Given the description of an element on the screen output the (x, y) to click on. 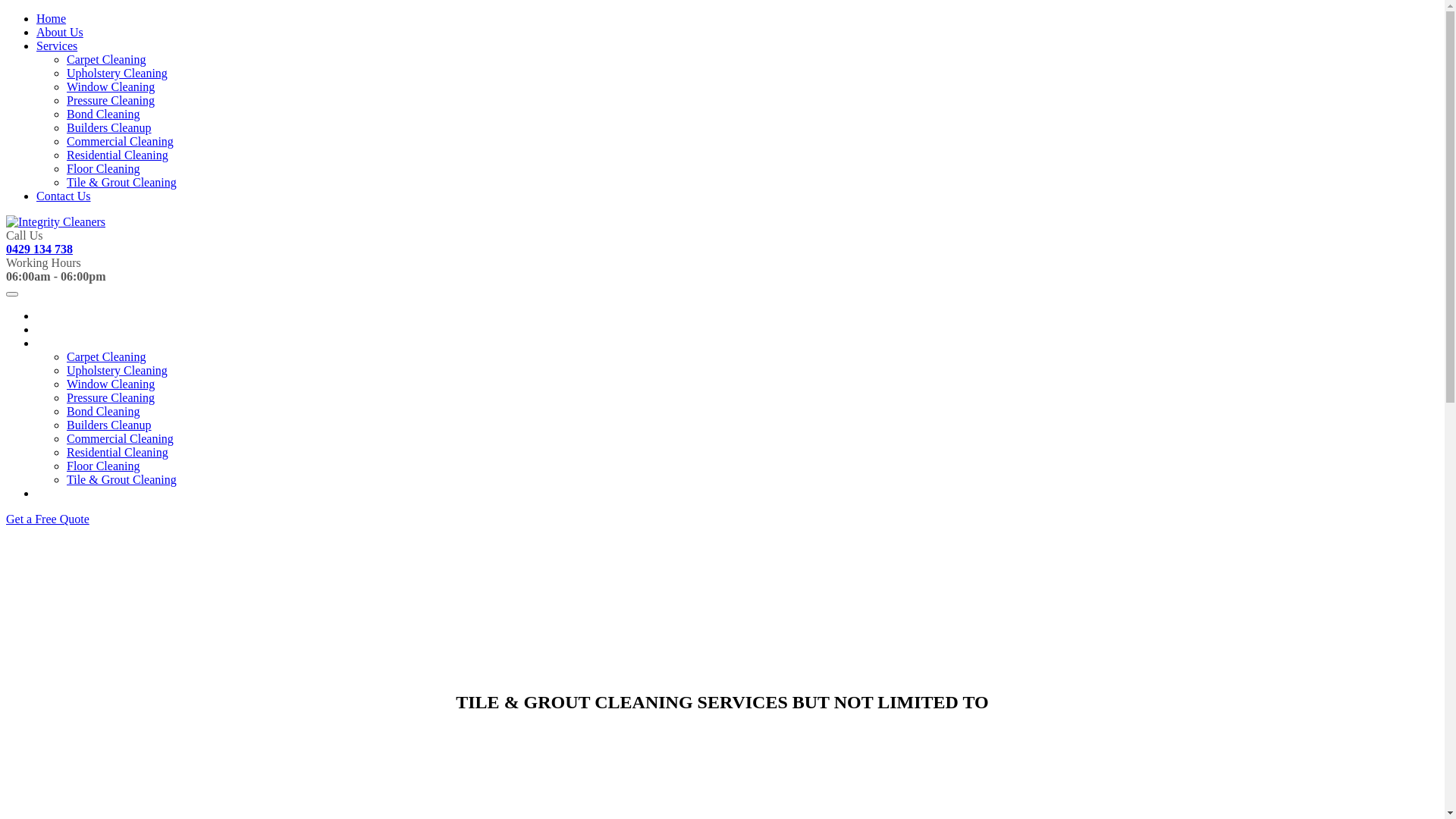
Upholstery Cleaning Element type: text (116, 370)
Tile & Grout Cleaning Element type: text (121, 479)
Home Element type: text (50, 18)
Bond Cleaning Element type: text (102, 113)
Residential Cleaning Element type: text (117, 451)
Residential Cleaning Element type: text (117, 154)
Upholstery Cleaning Element type: text (116, 72)
Commercial Cleaning Element type: text (119, 438)
Window Cleaning Element type: text (110, 383)
Floor Cleaning Element type: text (102, 465)
Builders Cleanup Element type: text (108, 424)
0429 134 738 Element type: text (39, 248)
Commercial Cleaning Element type: text (119, 140)
Pressure Cleaning Element type: text (110, 100)
Contact Us Element type: text (63, 492)
Carpet Cleaning Element type: text (105, 59)
Window Cleaning Element type: text (110, 86)
Builders Cleanup Element type: text (108, 127)
Carpet Cleaning Element type: text (105, 356)
Services Element type: text (56, 45)
About Us Element type: text (59, 31)
Home Element type: text (50, 315)
Tile & Grout Cleaning Element type: text (121, 181)
Get a Free Quote Element type: text (47, 518)
Pressure Cleaning Element type: text (110, 397)
About Us Element type: text (59, 329)
Contact Us Element type: text (63, 195)
Bond Cleaning Element type: text (102, 410)
Services Element type: text (56, 342)
Floor Cleaning Element type: text (102, 168)
